Given the description of an element on the screen output the (x, y) to click on. 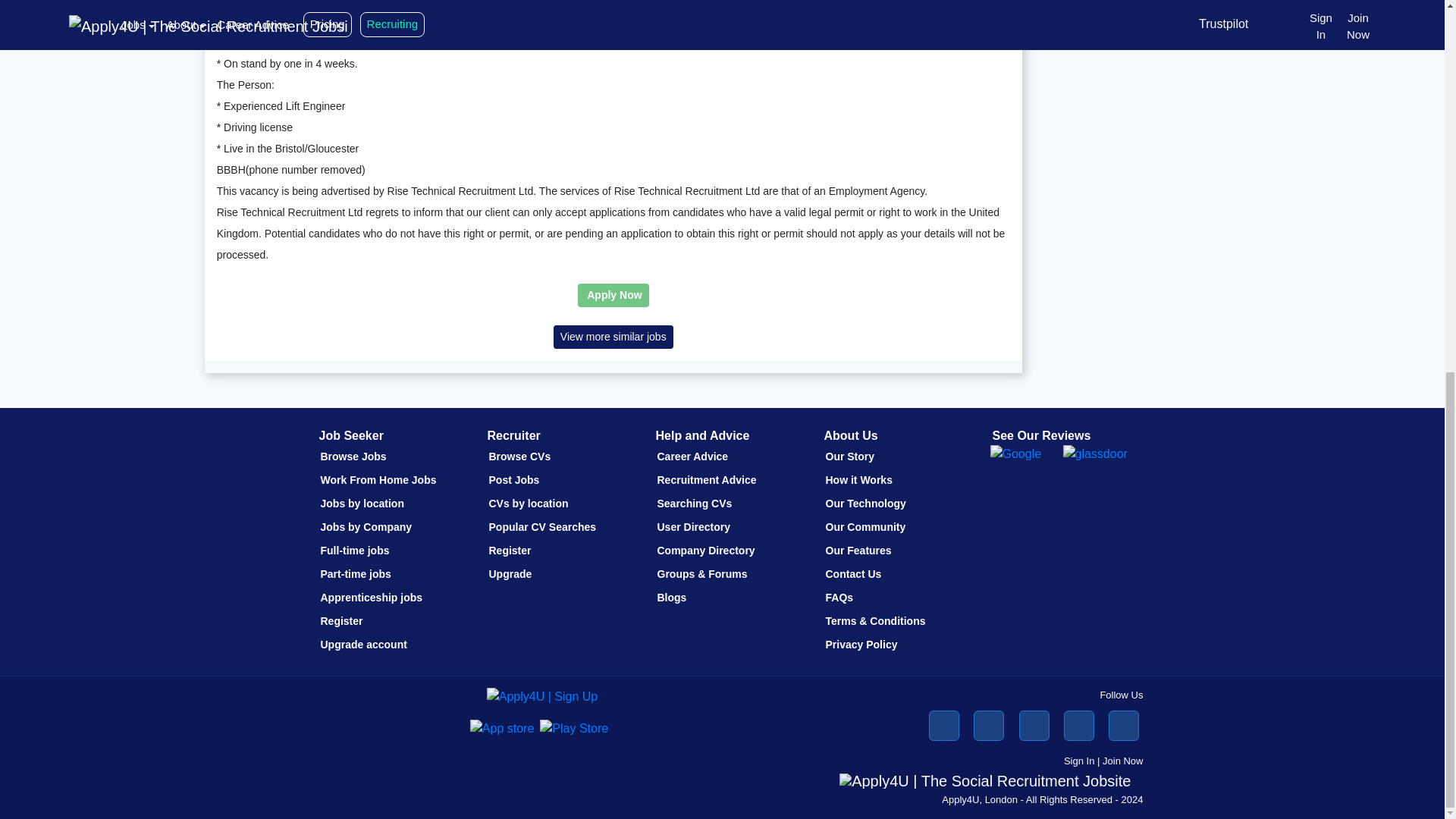
Apply to Job (613, 295)
Google reviews (1009, 454)
